Given the description of an element on the screen output the (x, y) to click on. 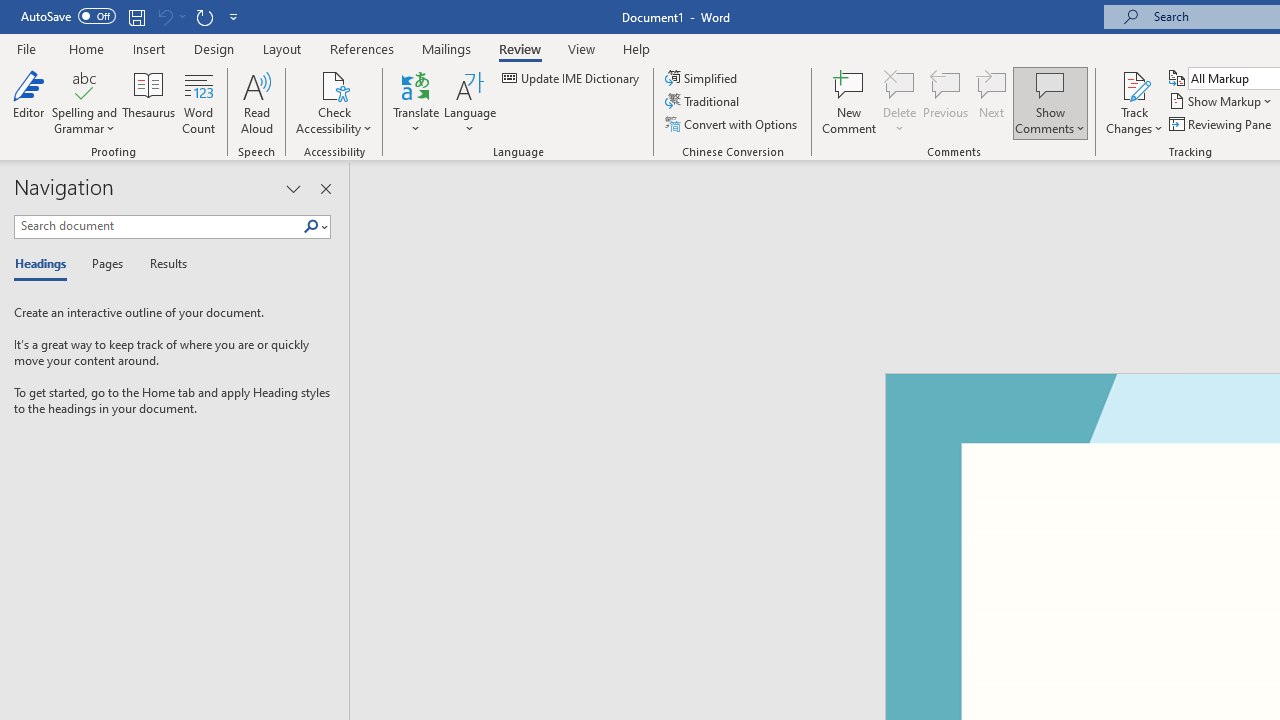
Delete (900, 102)
Search document (157, 226)
New Comment (849, 102)
Spelling and Grammar (84, 84)
Language (470, 102)
Read Aloud (256, 102)
Reviewing Pane (1221, 124)
Headings (45, 264)
Show Comments (1050, 84)
